Given the description of an element on the screen output the (x, y) to click on. 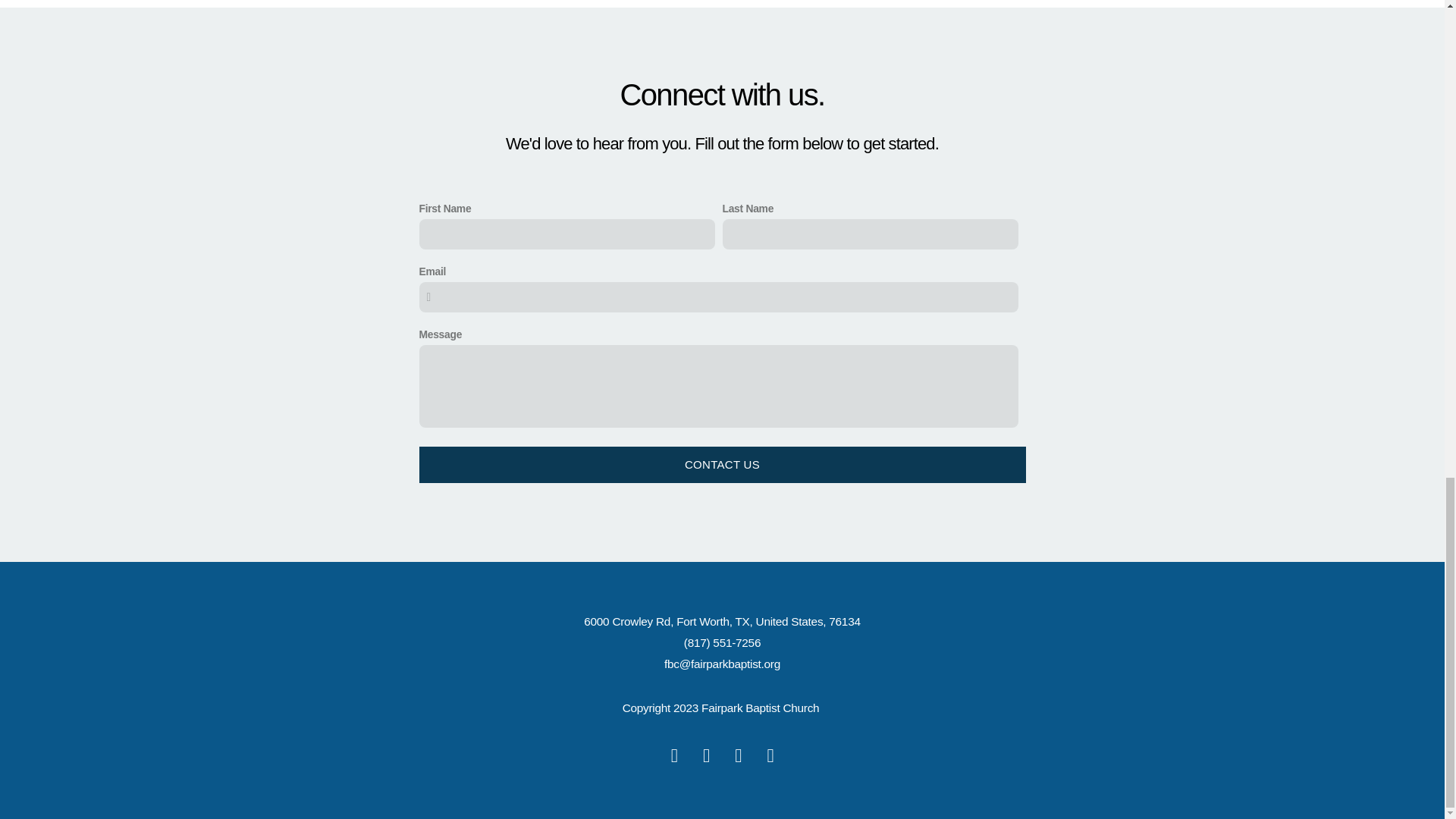
CONTACT US (722, 464)
